Given the description of an element on the screen output the (x, y) to click on. 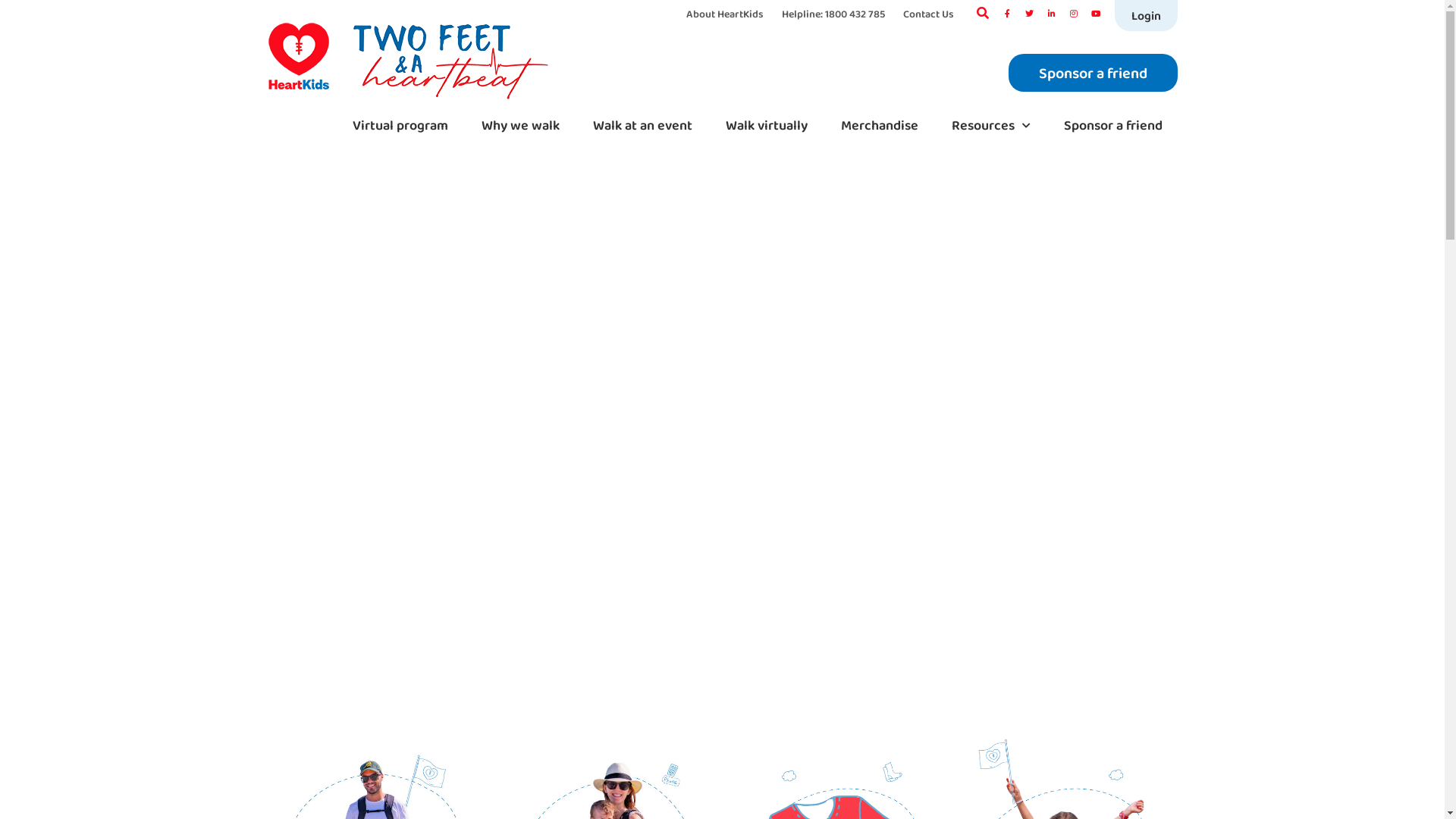
Why we walk Element type: text (519, 125)
Sponsor a friend Element type: text (1092, 72)
Contact Us Element type: text (927, 14)
Login Element type: text (1145, 15)
Sponsor a friend Element type: text (1112, 125)
Helpline: 1800 432 785 Element type: text (832, 14)
About HeartKids Element type: text (723, 14)
Resources Element type: text (989, 125)
Virtual program Element type: text (399, 125)
Walk at an event Element type: text (642, 125)
Merchandise Element type: text (878, 125)
Walk virtually Element type: text (765, 125)
